Given the description of an element on the screen output the (x, y) to click on. 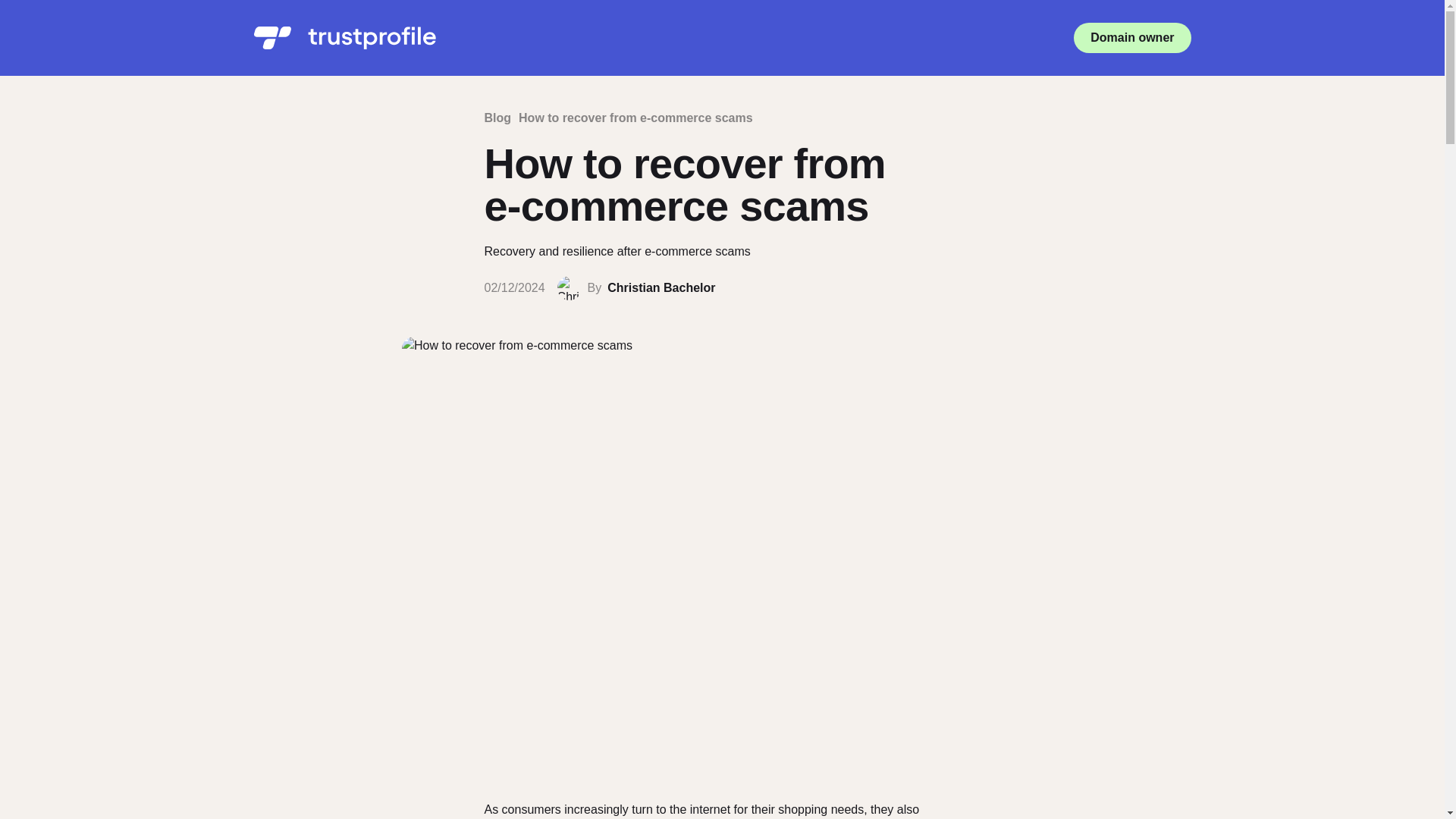
Domain owner (1132, 37)
Blog (497, 117)
